Given the description of an element on the screen output the (x, y) to click on. 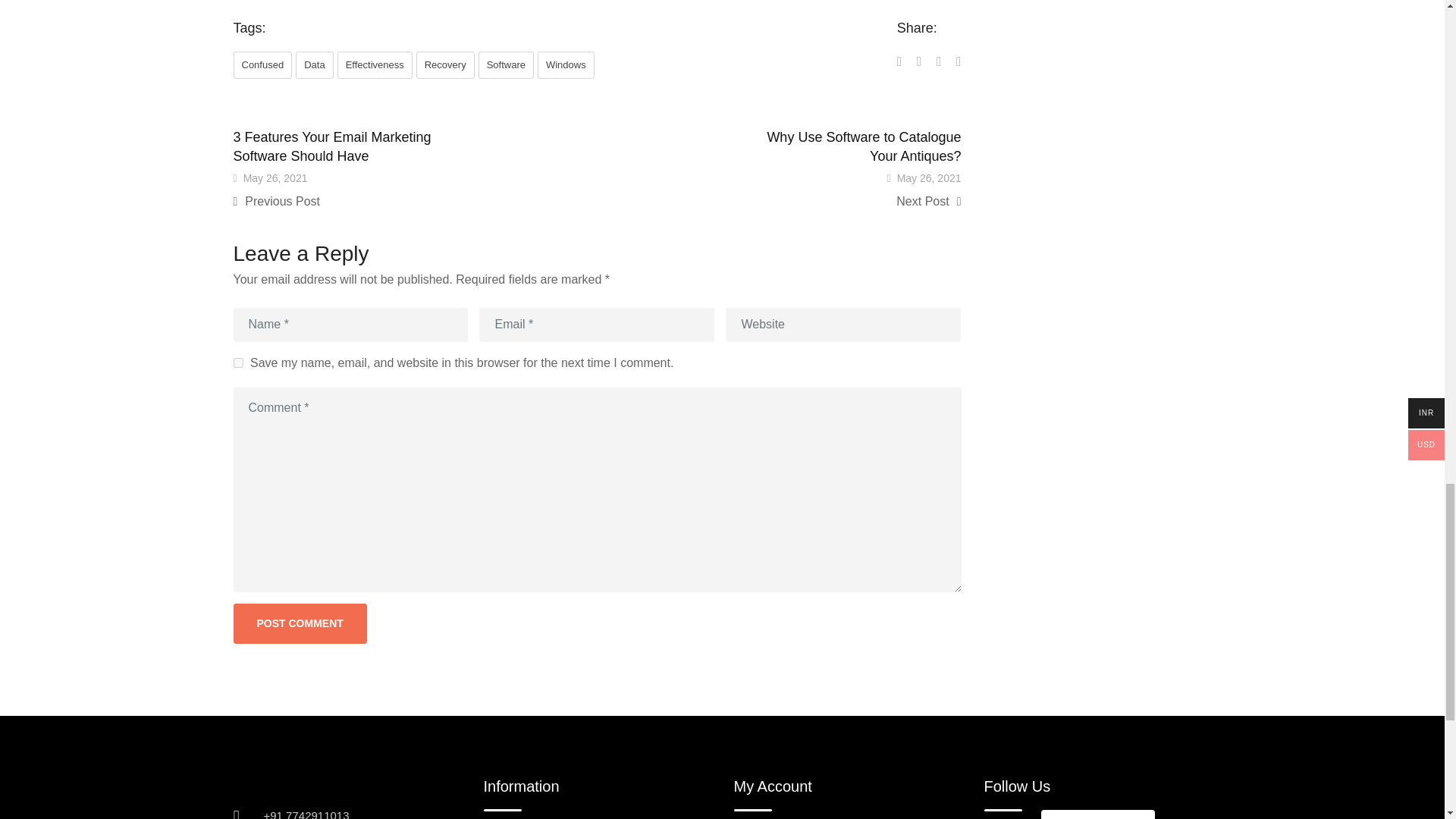
Data (314, 64)
Software (506, 64)
Windows (565, 64)
Post Comment (299, 623)
Confused (262, 64)
Recovery (445, 64)
Effectiveness (374, 64)
yes (237, 362)
